Given the description of an element on the screen output the (x, y) to click on. 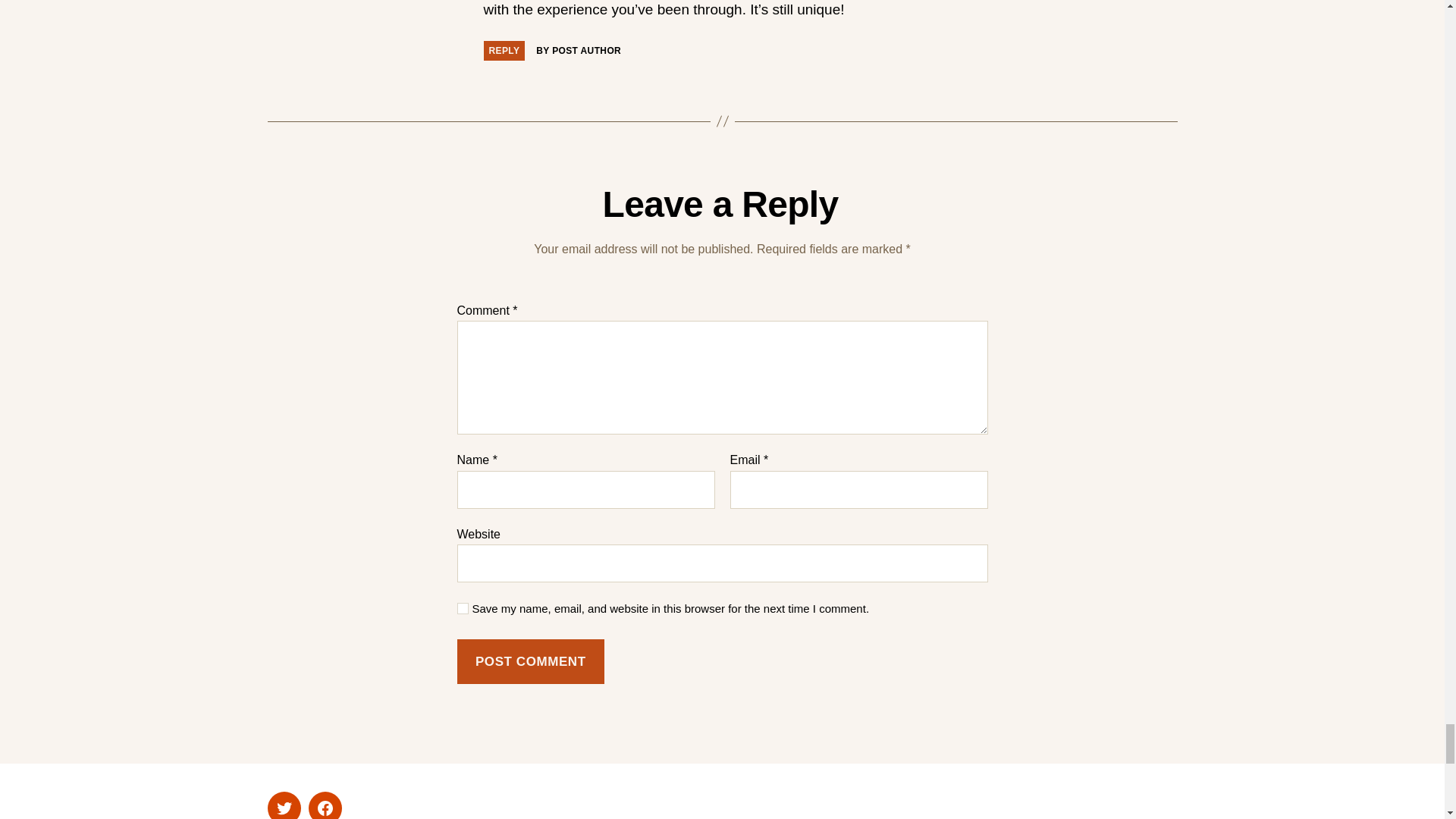
Post Comment (530, 661)
REPLY (504, 50)
yes (462, 608)
